Given the description of an element on the screen output the (x, y) to click on. 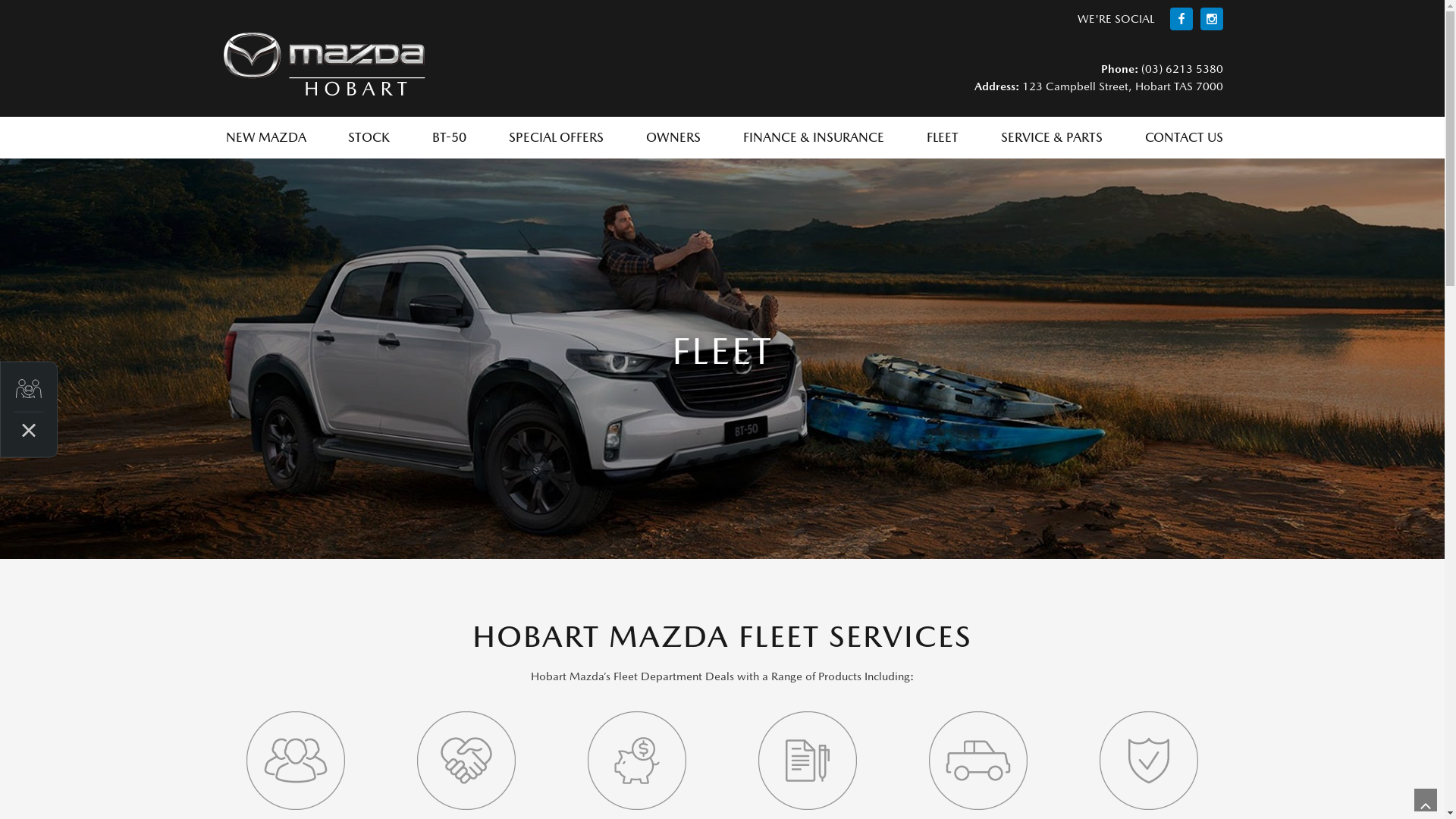
NEW MAZDA Element type: text (265, 137)
CONTACT US Element type: text (1181, 137)
SERVICE & PARTS Element type: text (1051, 137)
FINANCE & INSURANCE Element type: text (813, 137)
(03) 6213 5380 Element type: text (1179, 68)
SPECIAL OFFERS Element type: text (556, 137)
FLEET Element type: text (942, 137)
BT-50 Element type: text (449, 137)
123 Campbell Street, Hobart TAS 7000 Element type: text (1121, 84)
OWNERS Element type: text (673, 137)
STOCK Element type: text (368, 137)
